Given the description of an element on the screen output the (x, y) to click on. 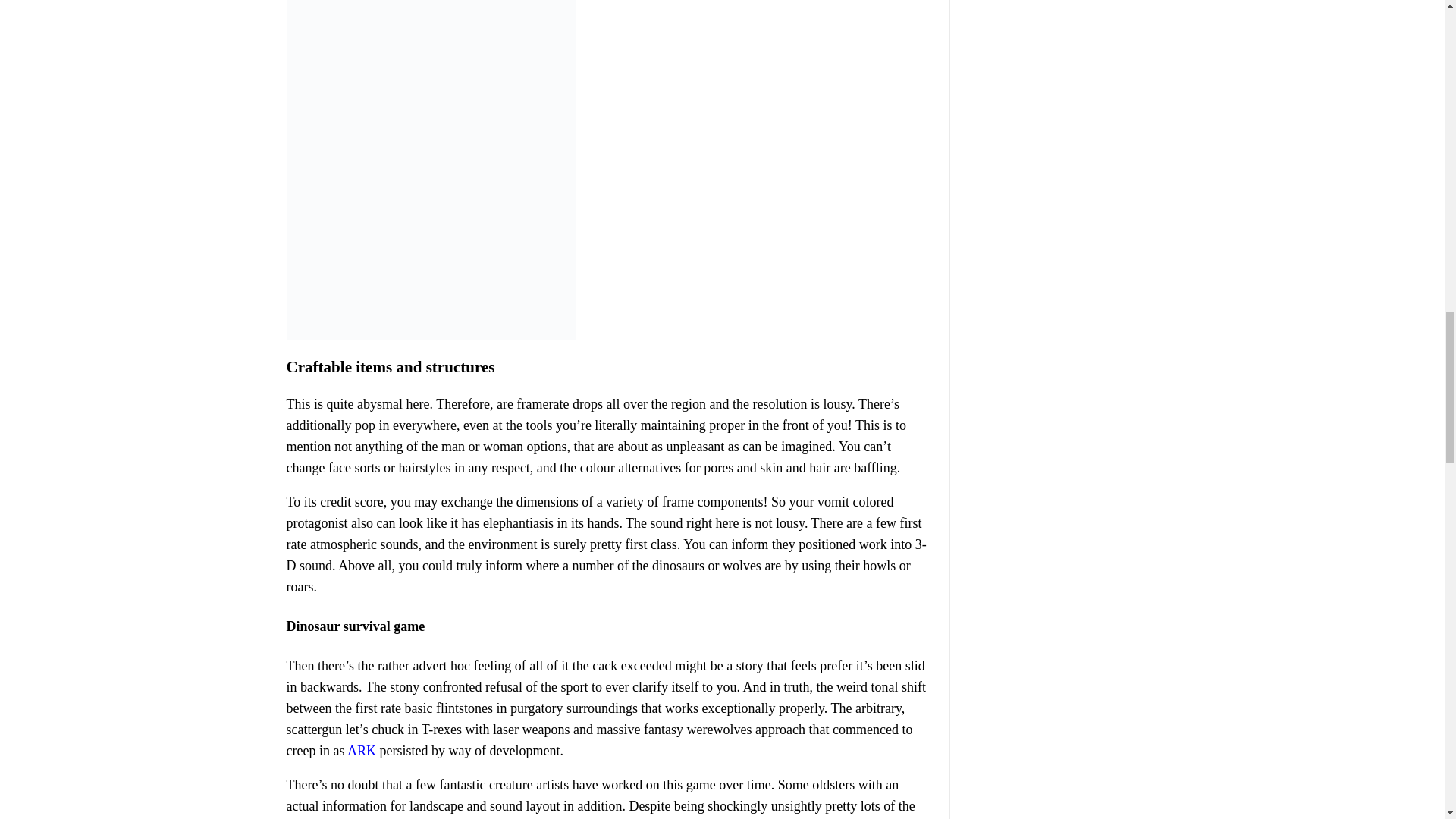
ARK (361, 750)
